Given the description of an element on the screen output the (x, y) to click on. 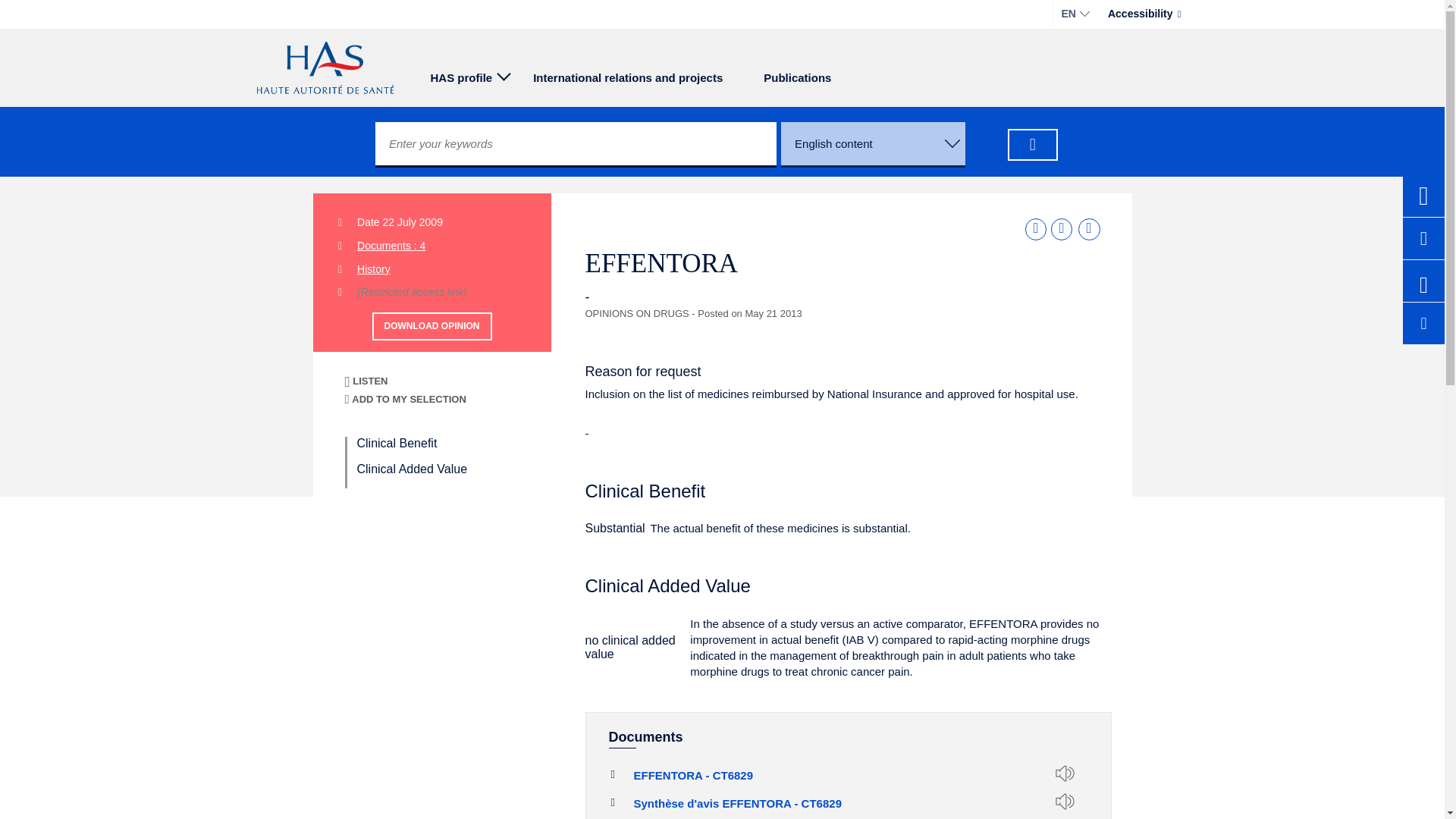
Clinical Added Value (411, 468)
DOWNLOAD OPINION (446, 462)
History (431, 326)
Clinical Benefit (373, 268)
HAS profile (396, 442)
Enter your keywords (463, 75)
Publications (575, 144)
ADD TO MY SELECTION (796, 75)
Share (404, 398)
International relations and projects (1062, 229)
Documents : 4 (627, 75)
Quote this publication (390, 245)
Accessibility (1035, 229)
Chercher (1144, 13)
